Given the description of an element on the screen output the (x, y) to click on. 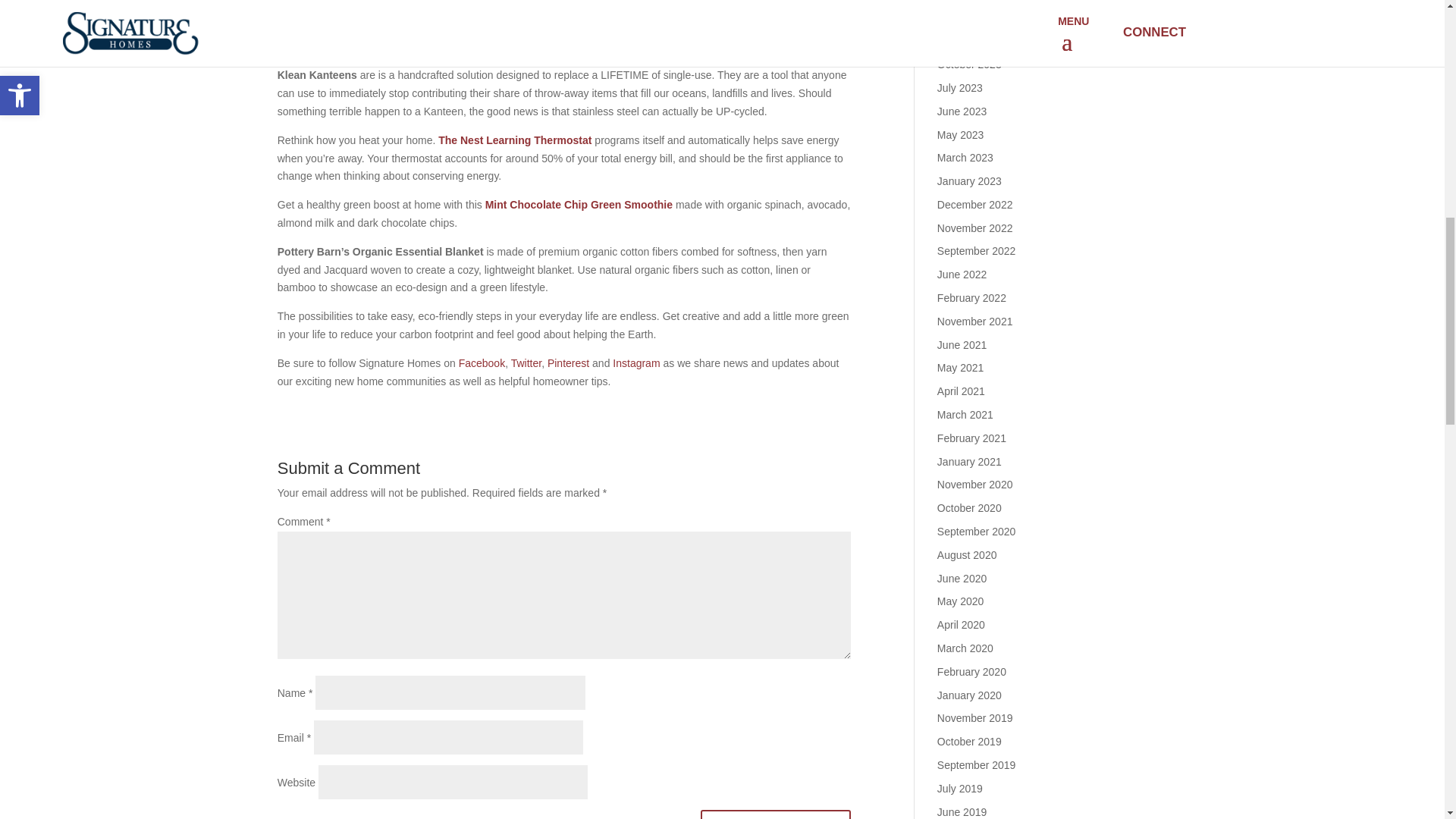
Bay Meadows on Facebook (481, 363)
Twitter (526, 363)
Submit Comment (775, 814)
Instagram (635, 363)
Pinterest (568, 363)
Facebook (481, 363)
Mint Chocolate Chip Green Smoothie (578, 204)
Solar Powered Keyboard (405, 10)
The Nest Learning Thermostat (514, 140)
